Given the description of an element on the screen output the (x, y) to click on. 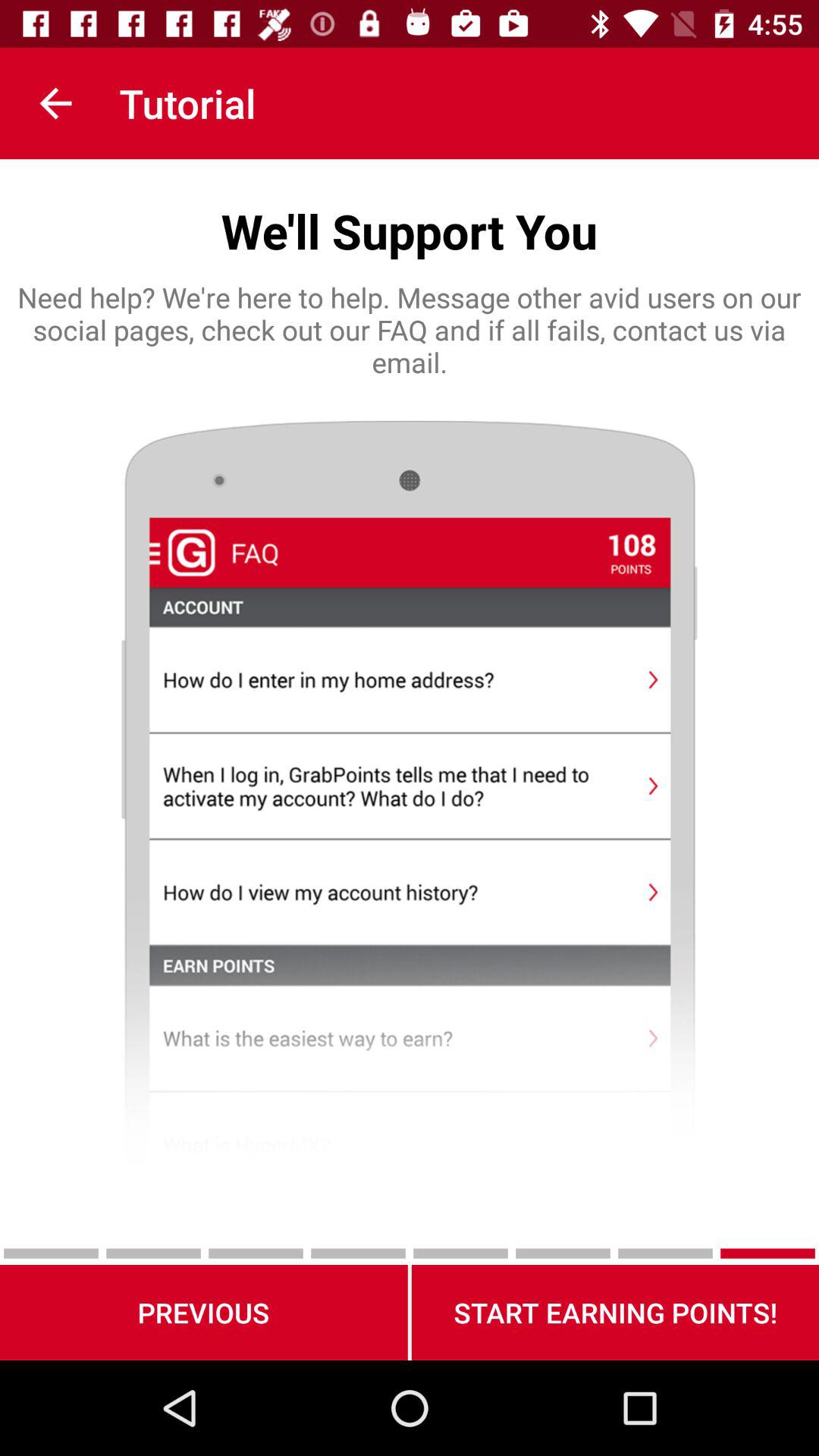
select the item next to the previous item (615, 1312)
